Given the description of an element on the screen output the (x, y) to click on. 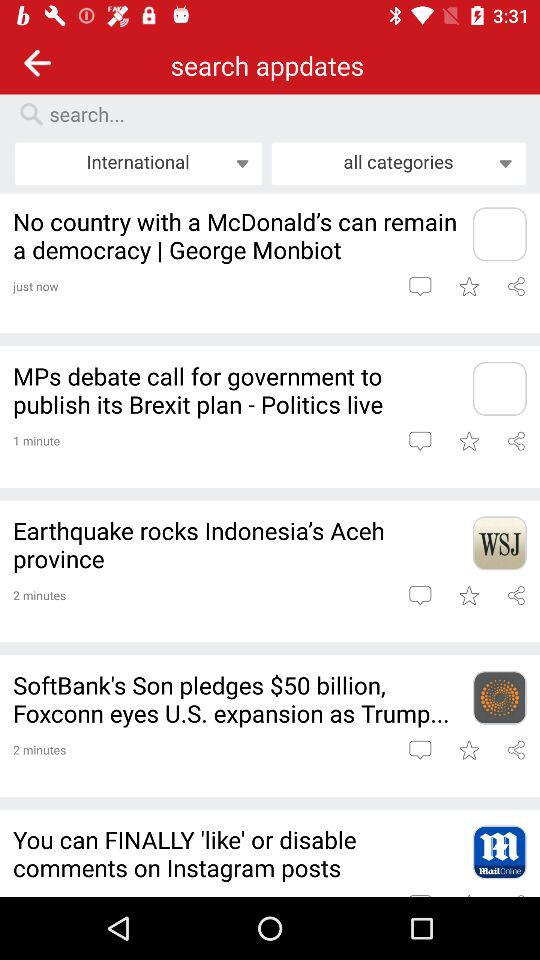
open news online webpage (499, 852)
